Given the description of an element on the screen output the (x, y) to click on. 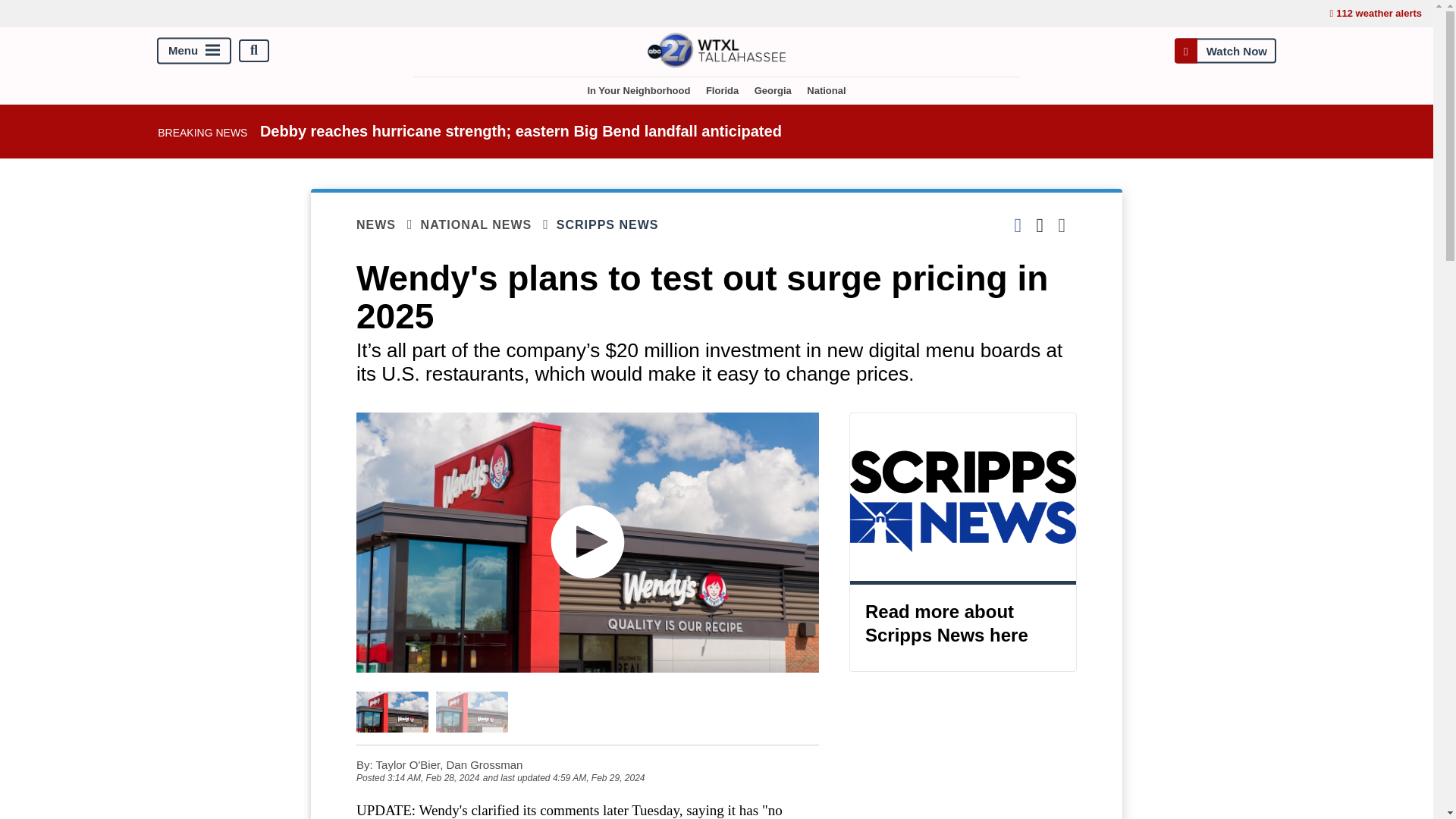
Menu (194, 49)
Watch Now (1224, 50)
